Given the description of an element on the screen output the (x, y) to click on. 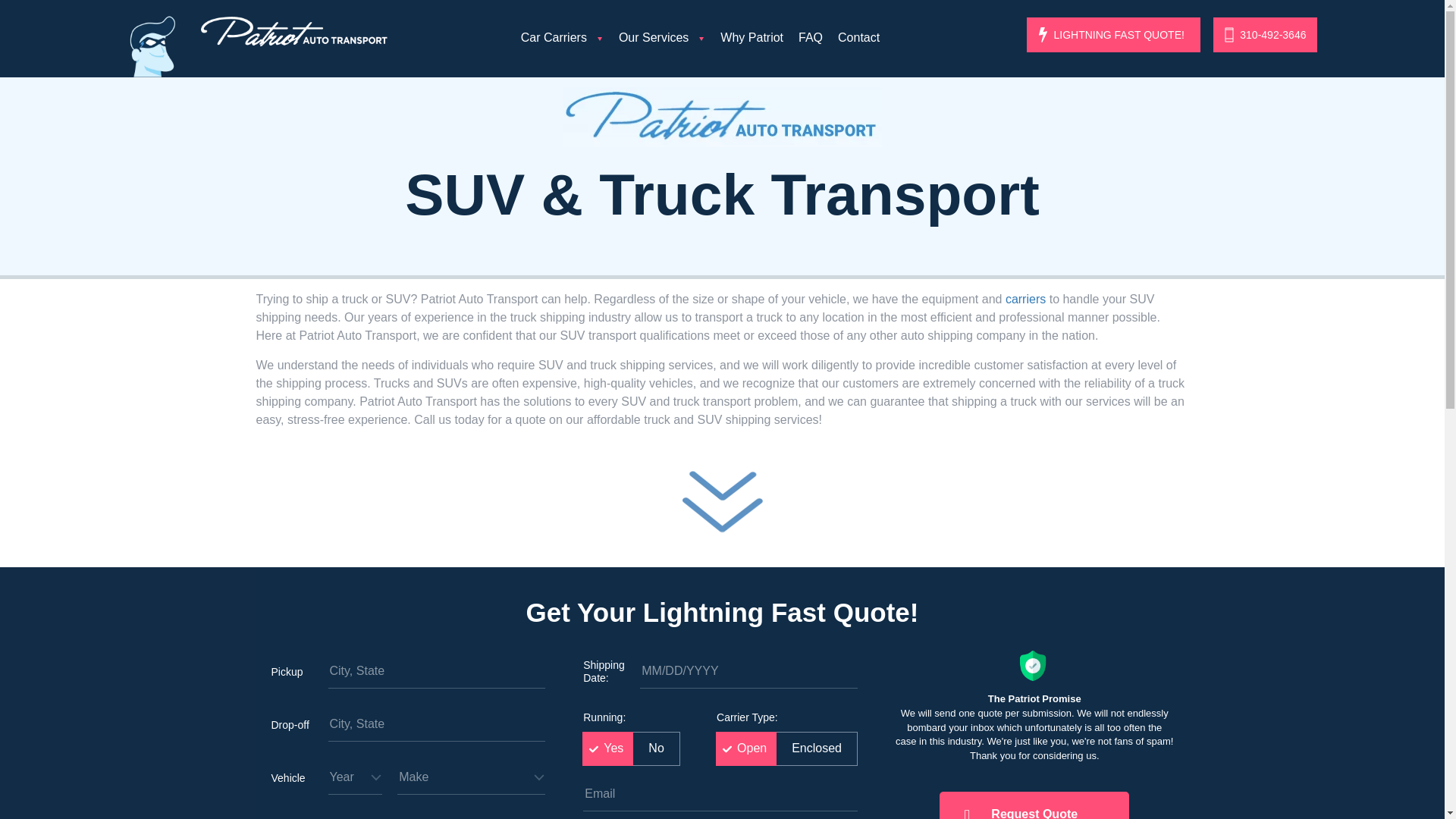
Car Carriers (562, 37)
Request Quote (1034, 805)
Why Patriot (751, 37)
Contact (857, 37)
LIGHTNING FAST QUOTE! (1112, 34)
310-492-3646 (1264, 34)
FAQ (809, 37)
